Given the description of an element on the screen output the (x, y) to click on. 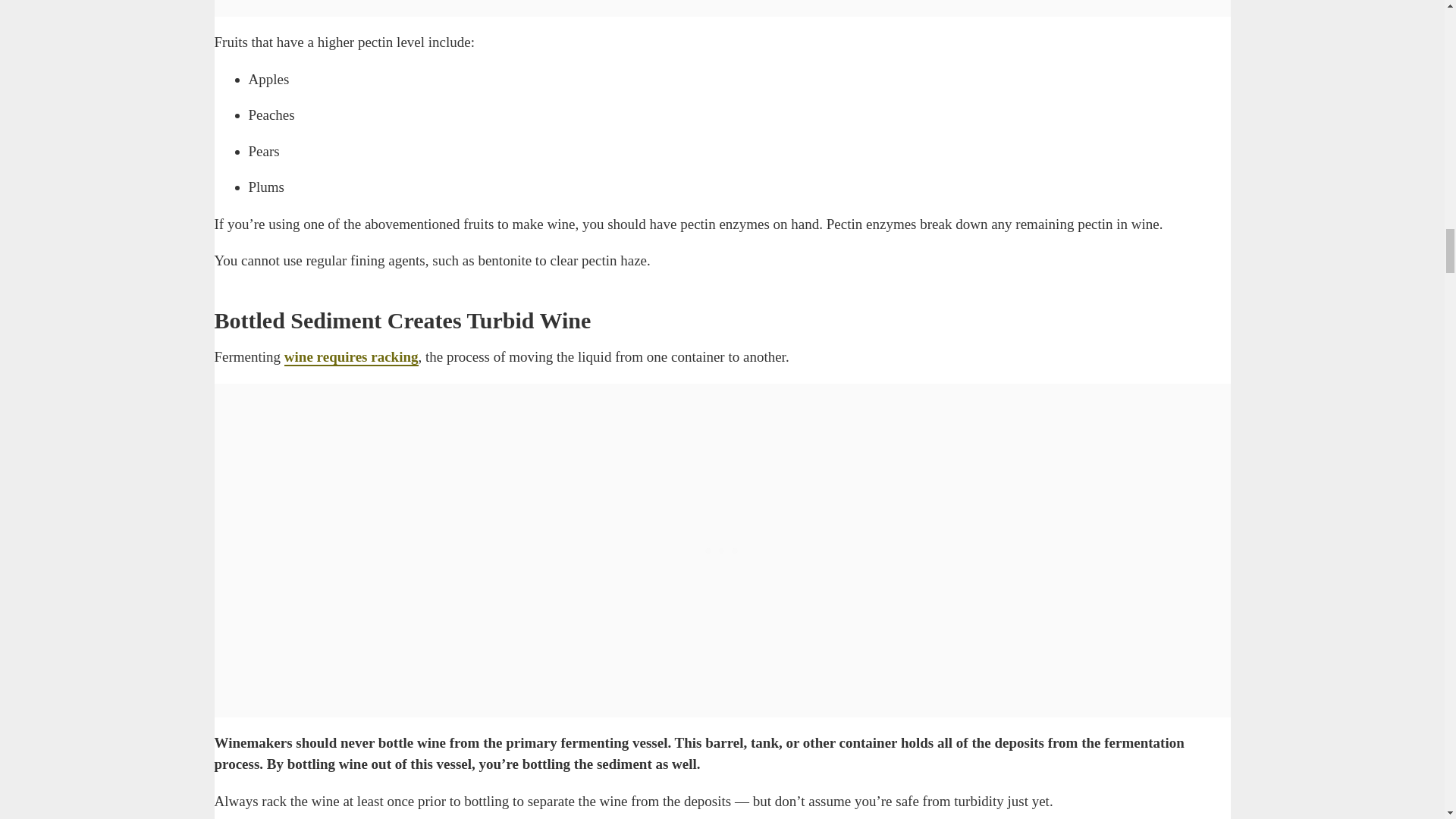
wine requires racking (351, 357)
